Given the description of an element on the screen output the (x, y) to click on. 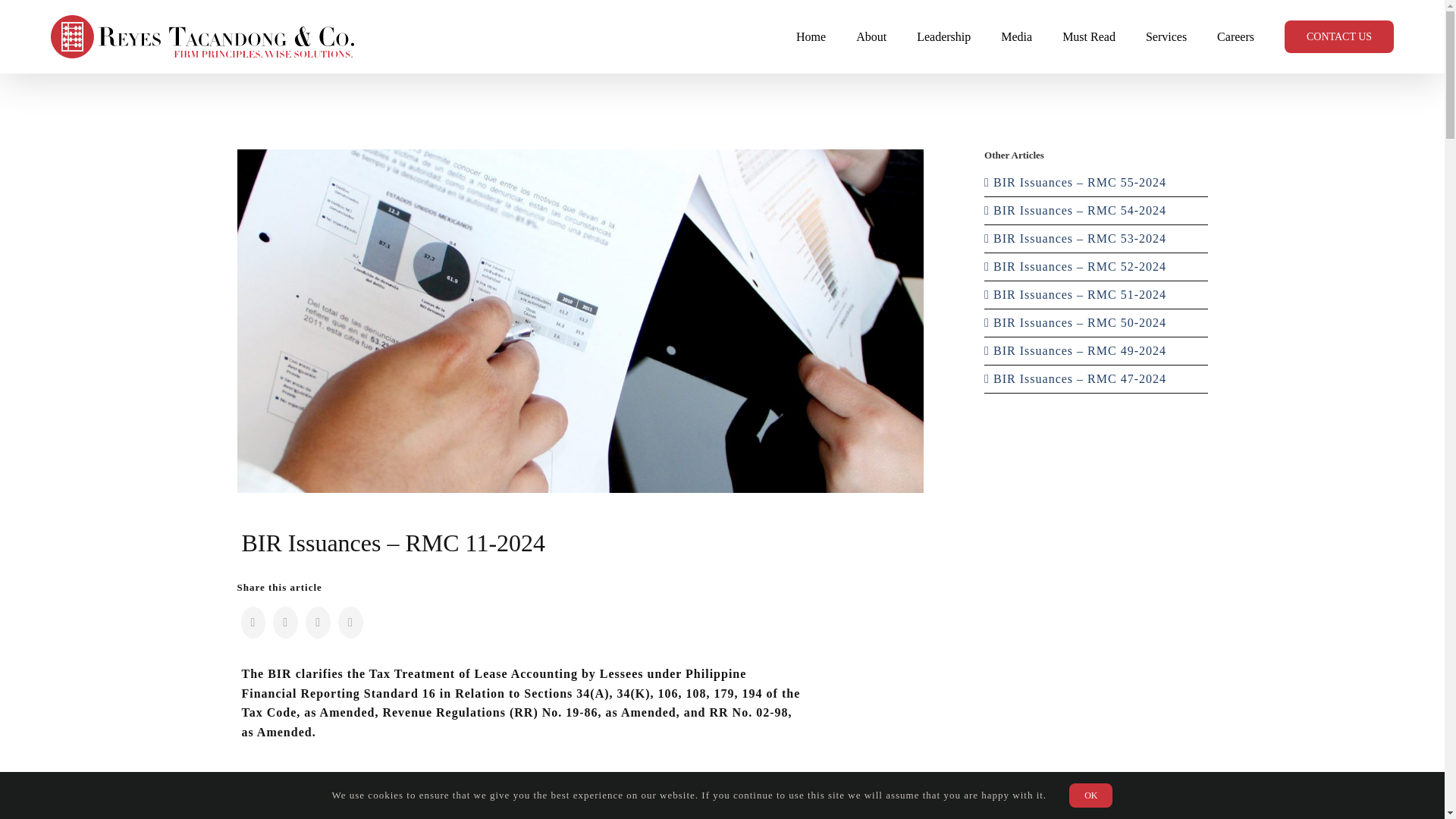
CONTACT US (1338, 36)
Share this article (579, 621)
